Given the description of an element on the screen output the (x, y) to click on. 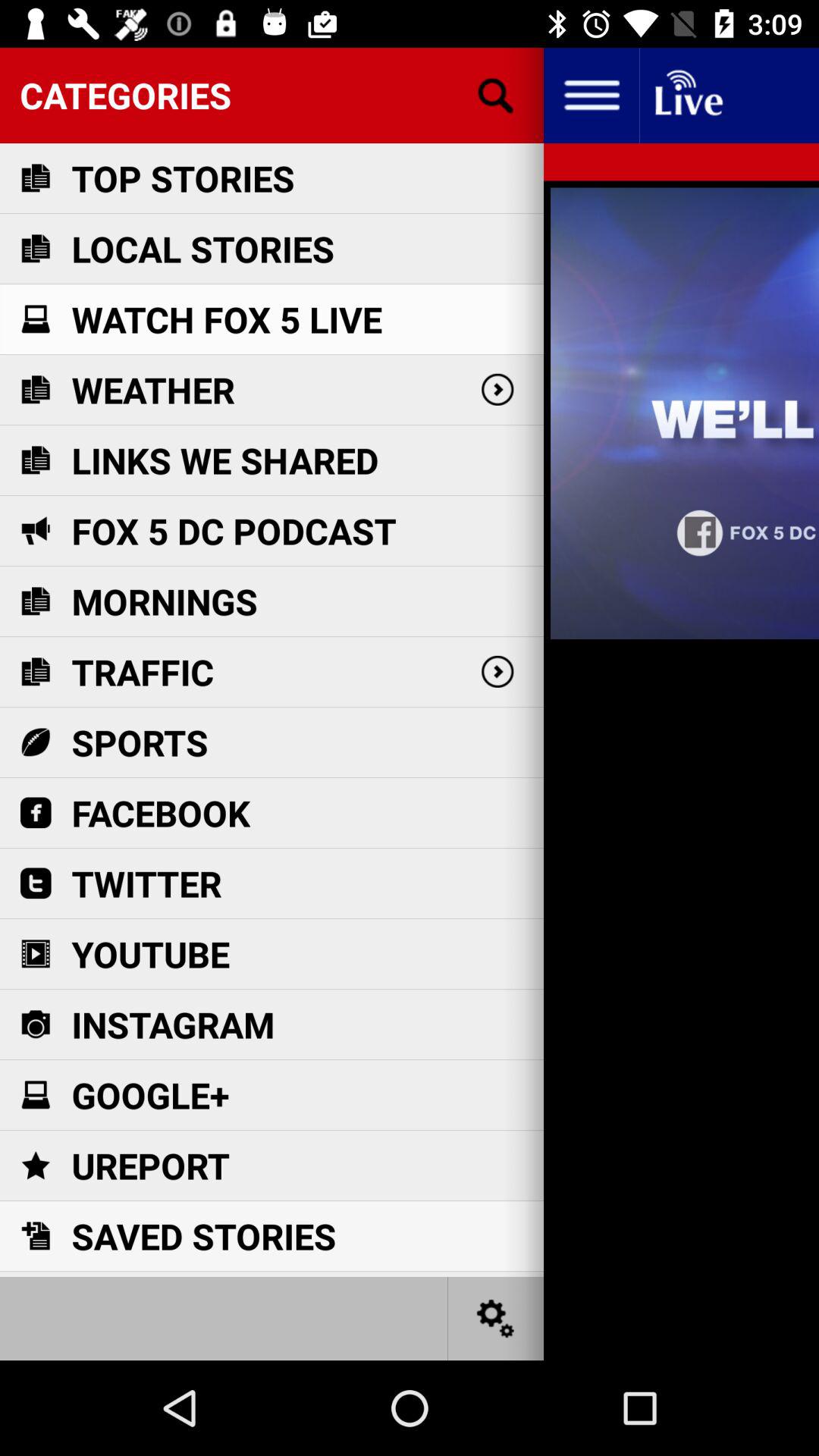
turn on item above the local stories icon (182, 178)
